Given the description of an element on the screen output the (x, y) to click on. 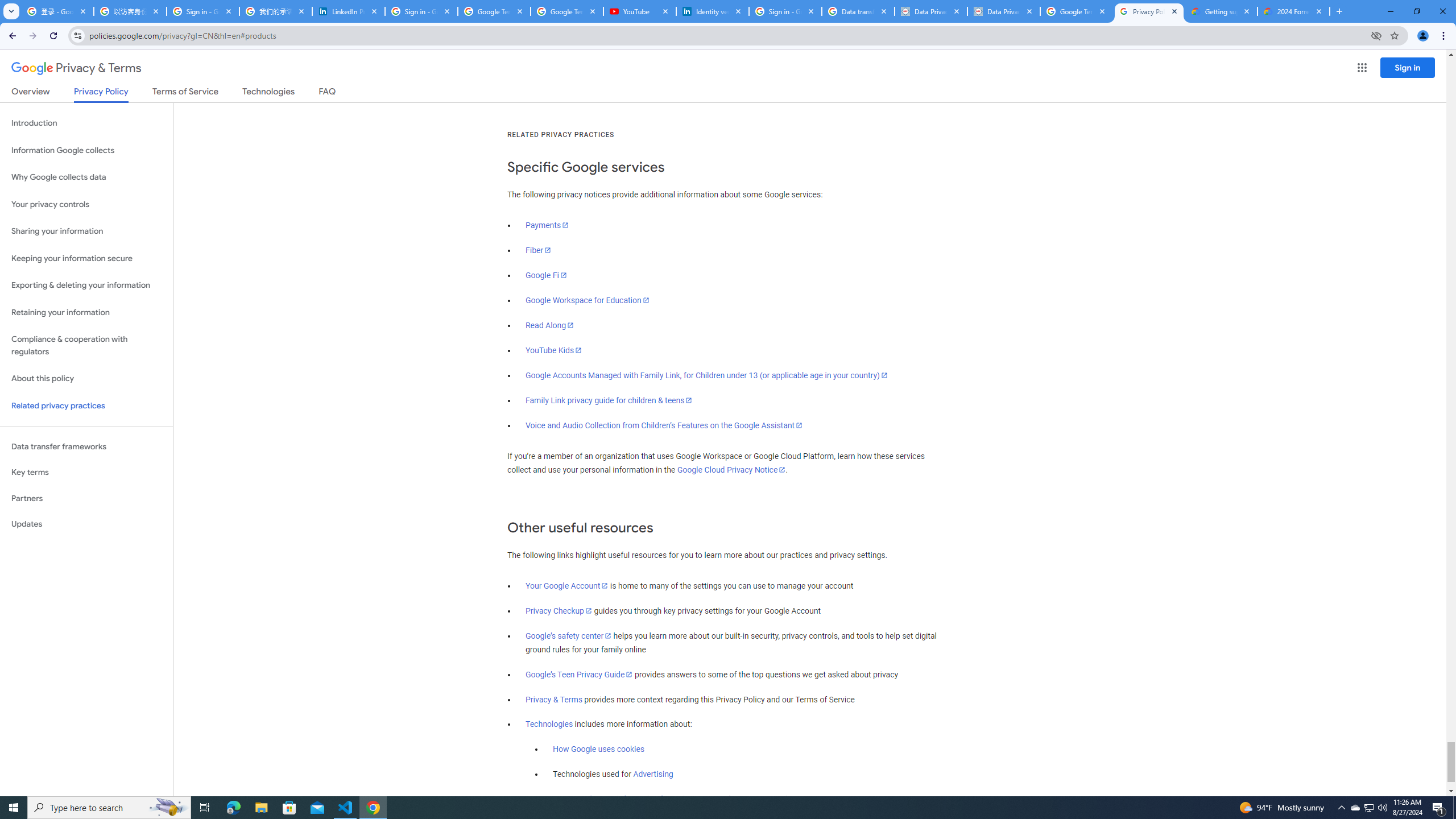
Privacy Checkup (558, 610)
YouTube Kids (553, 350)
